Given the description of an element on the screen output the (x, y) to click on. 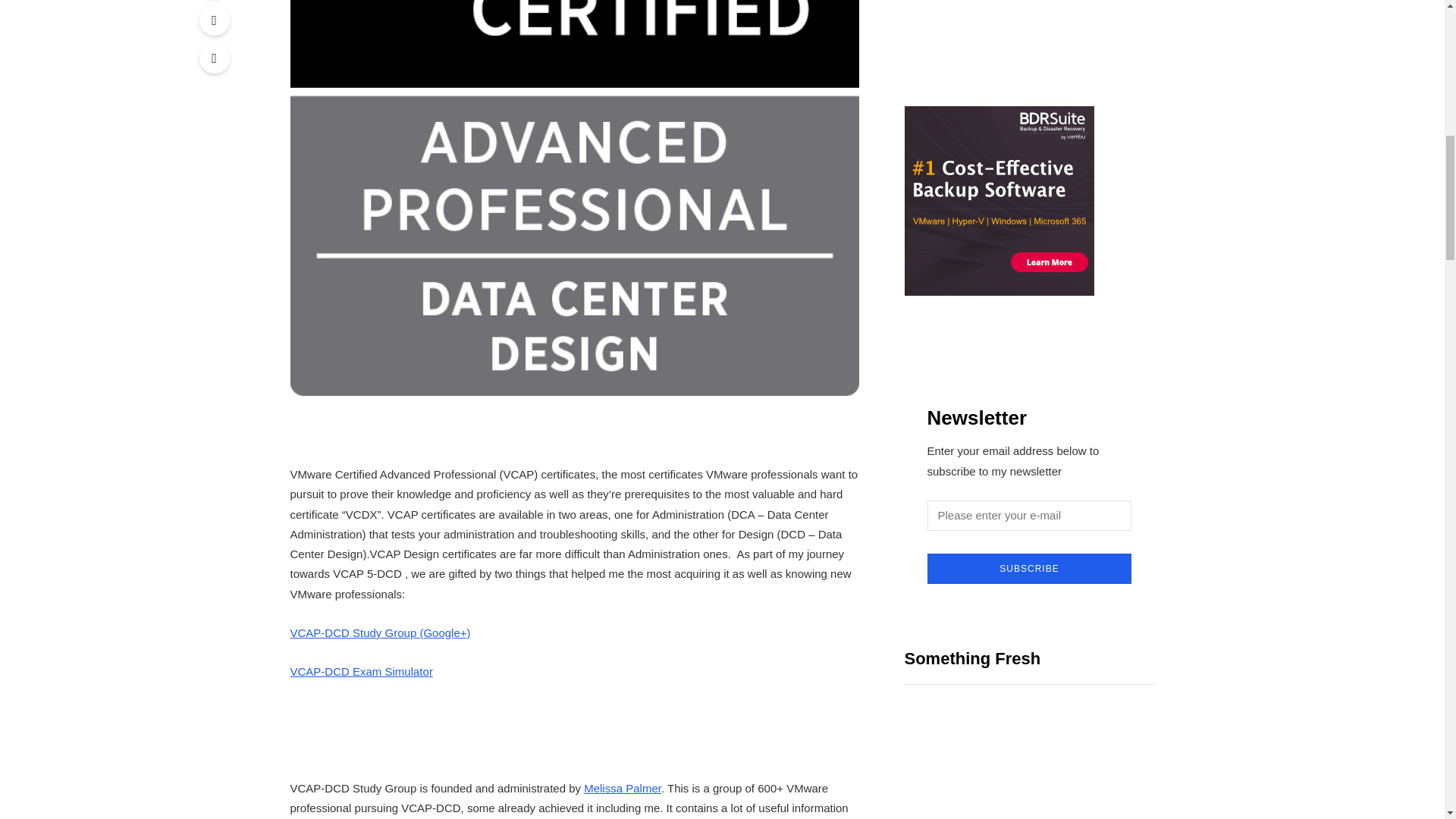
Share by Email (213, 58)
Share to Telegram (213, 20)
